Given the description of an element on the screen output the (x, y) to click on. 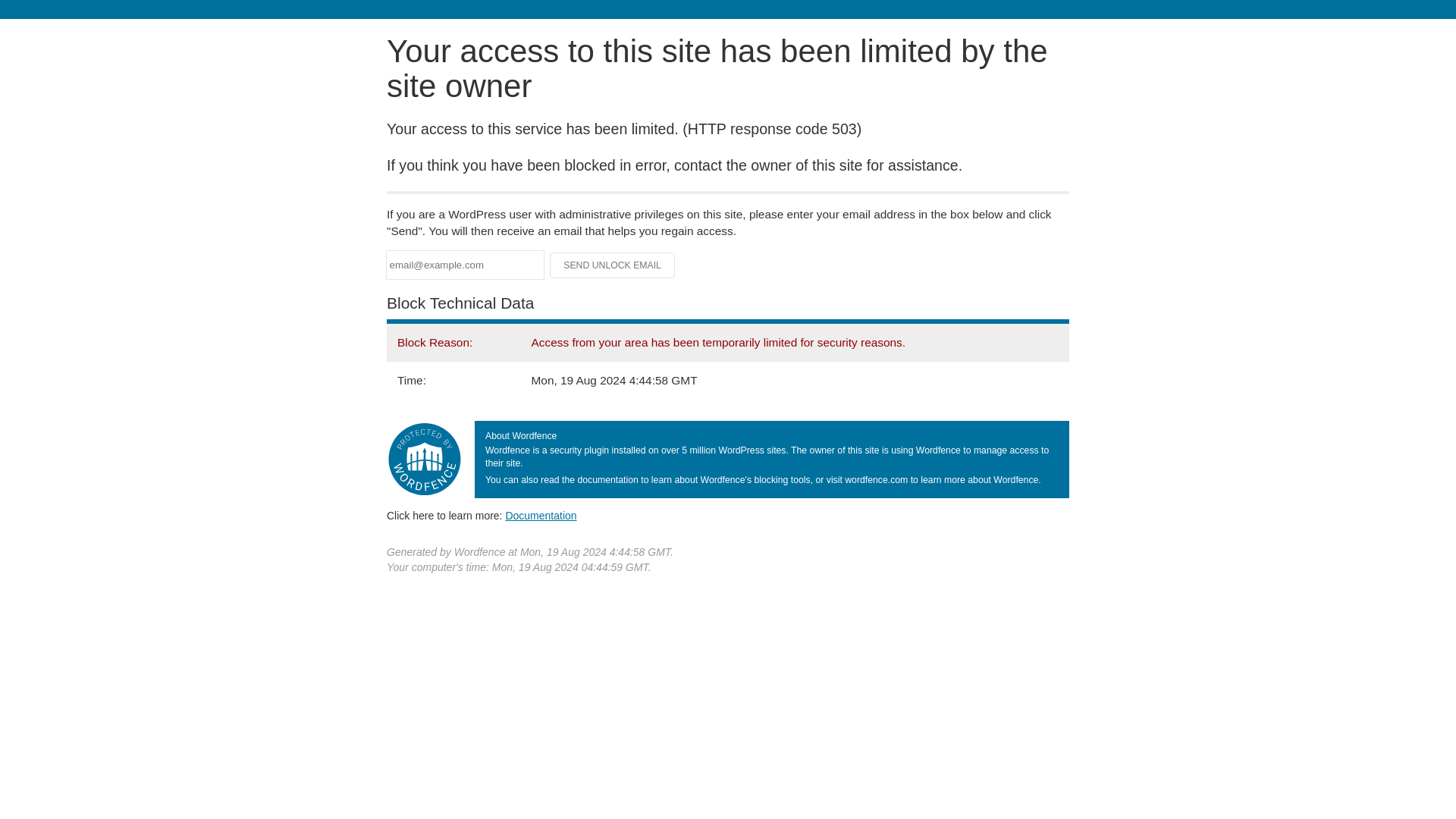
Send Unlock Email (612, 265)
Documentation (540, 515)
Send Unlock Email (612, 265)
